Given the description of an element on the screen output the (x, y) to click on. 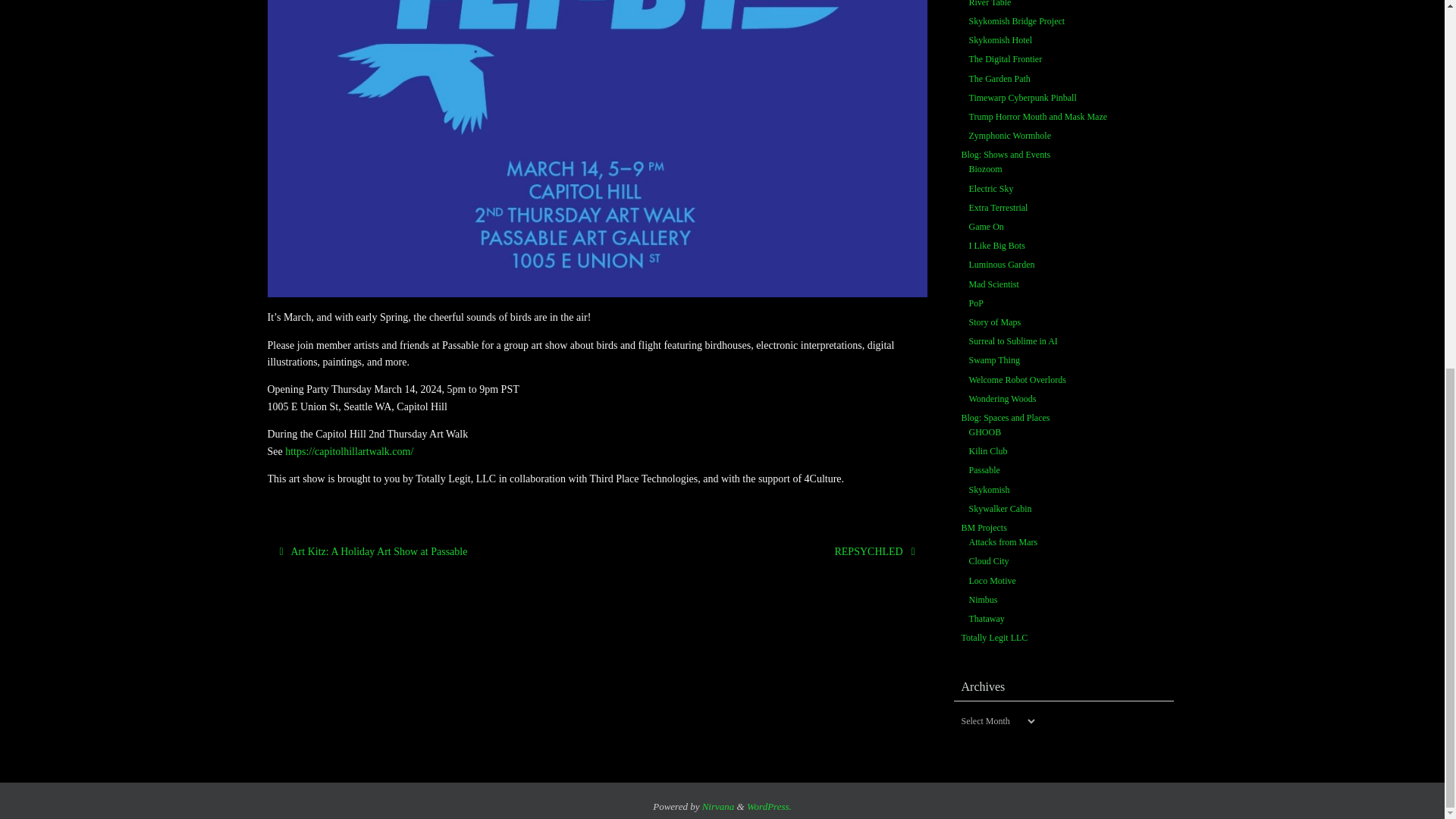
Skykomish Hotel (1000, 40)
River Table (990, 4)
Art Kitz: A Holiday Art Show at Passable (427, 551)
Semantic Personal Publishing Platform (769, 806)
Nirvana Theme by Cryout Creations (718, 806)
REPSYCHLED (765, 551)
Skykomish Bridge Project (1017, 21)
